Given the description of an element on the screen output the (x, y) to click on. 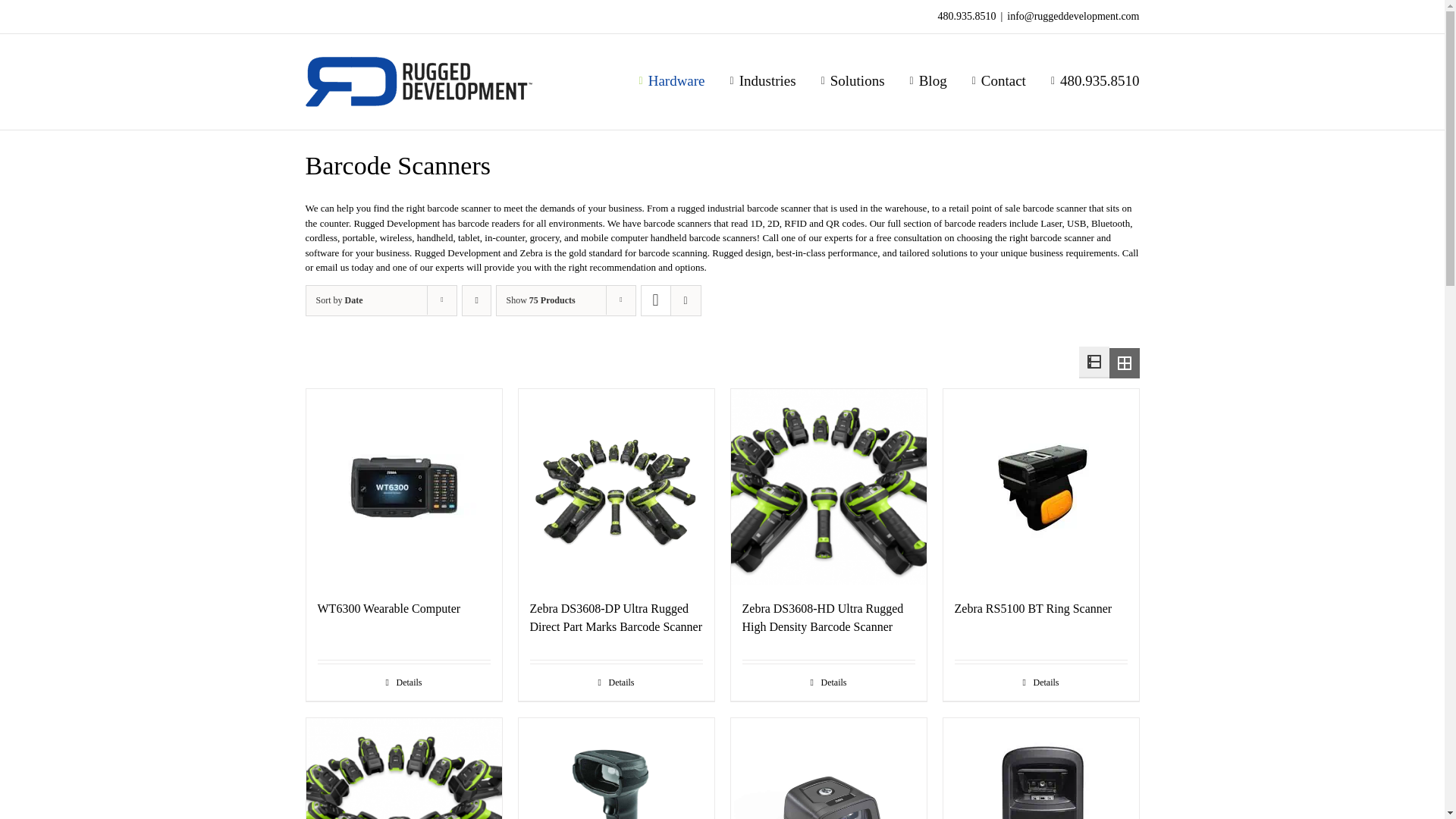
480.935.8510 (1095, 80)
Call us today! (1095, 80)
Blog (928, 80)
Industries (763, 80)
Hardware (671, 80)
Contact (999, 80)
Solutions (853, 80)
